Given the description of an element on the screen output the (x, y) to click on. 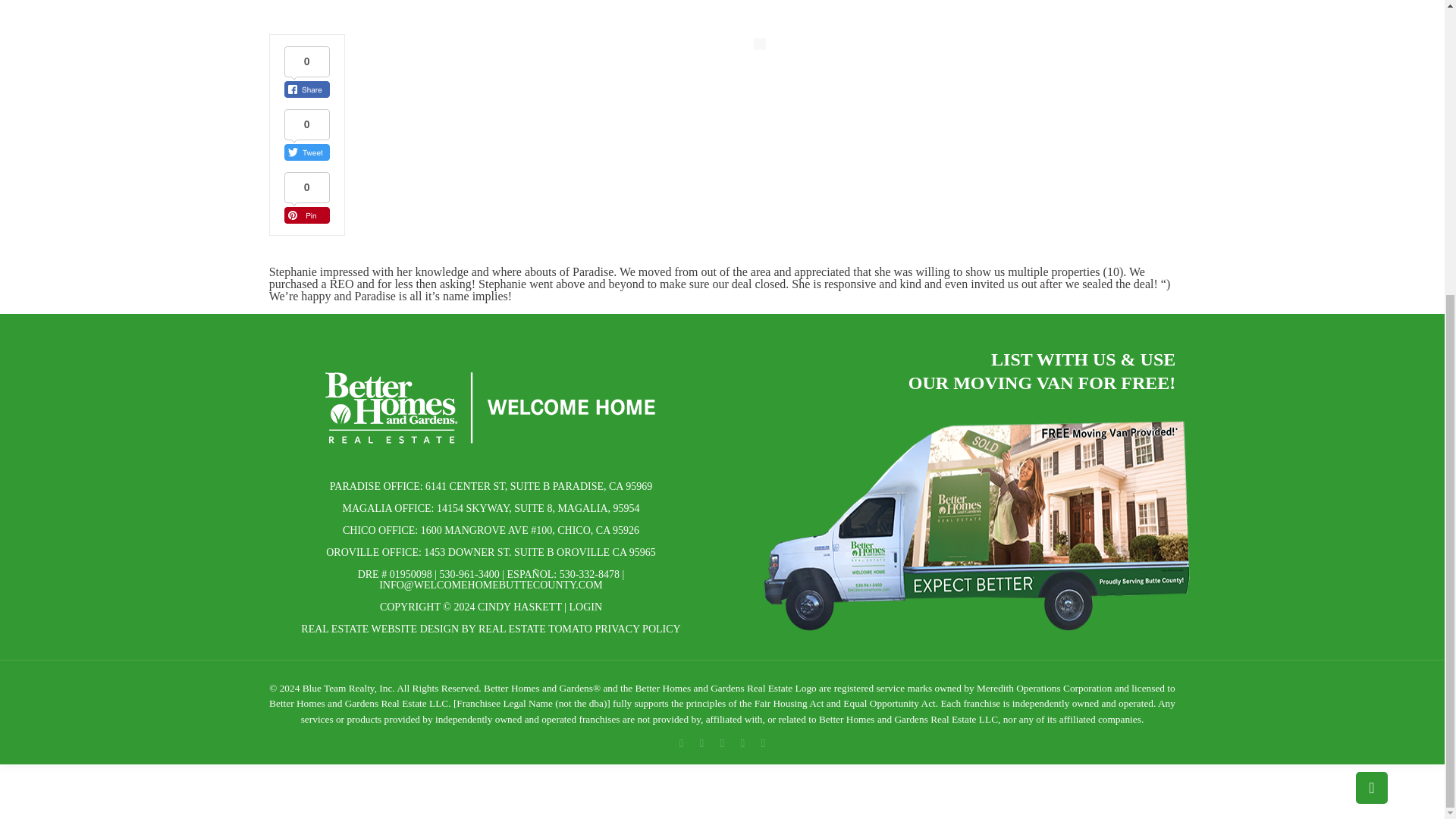
Twitter (722, 743)
Facebook (680, 743)
Instagram (763, 743)
LinkedIn (743, 743)
